Given the description of an element on the screen output the (x, y) to click on. 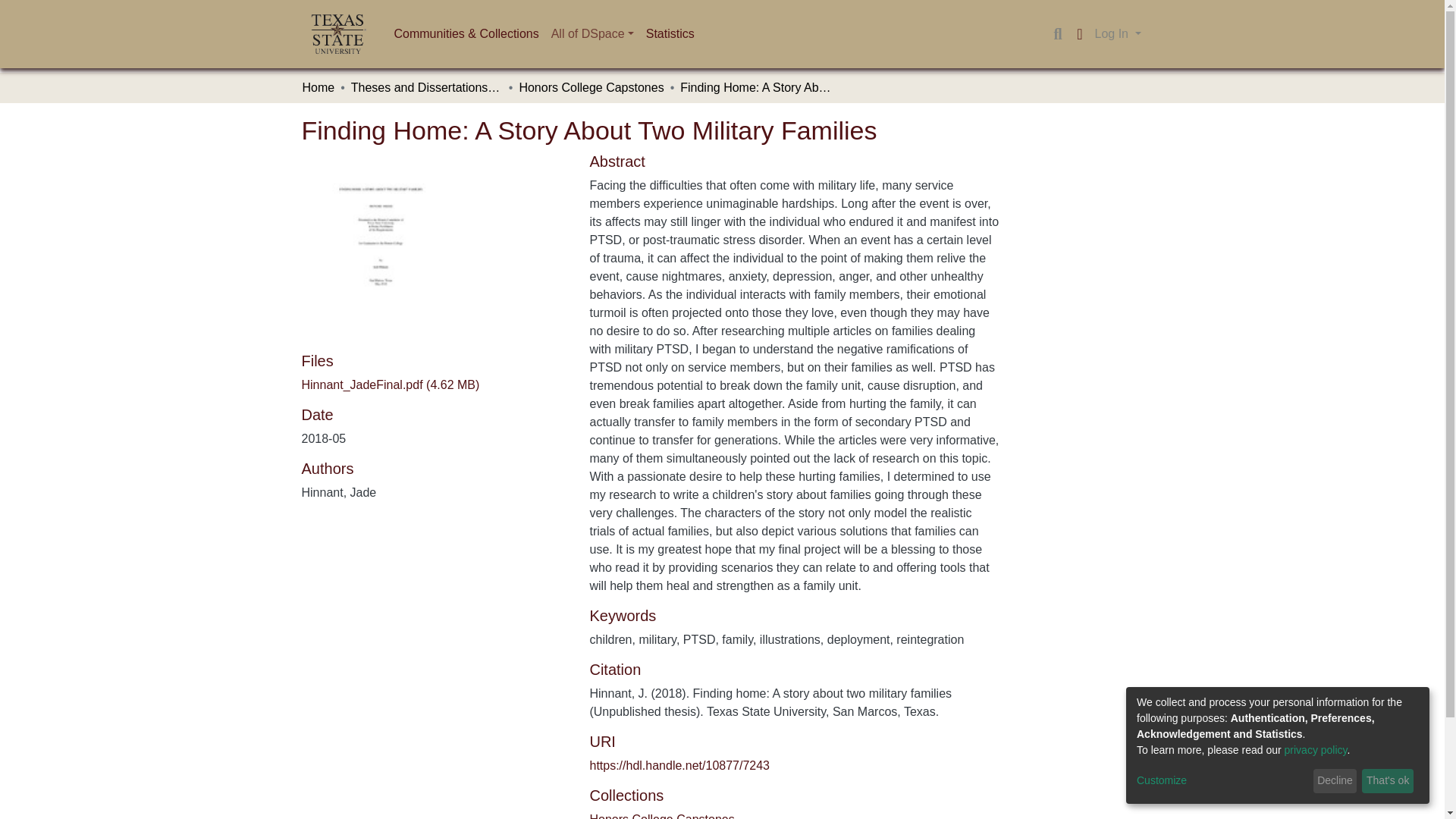
Theses and Dissertations, Capstones, and Directed Research (426, 87)
Honors College Capstones (661, 816)
That's ok (1387, 781)
Home (317, 87)
Language switch (1079, 34)
Statistics (670, 33)
Statistics (670, 33)
Decline (1334, 781)
Log In (1117, 33)
privacy policy (1316, 749)
Honors College Capstones (590, 87)
Customize (1222, 780)
Search (1057, 34)
All of DSpace (592, 33)
